Given the description of an element on the screen output the (x, y) to click on. 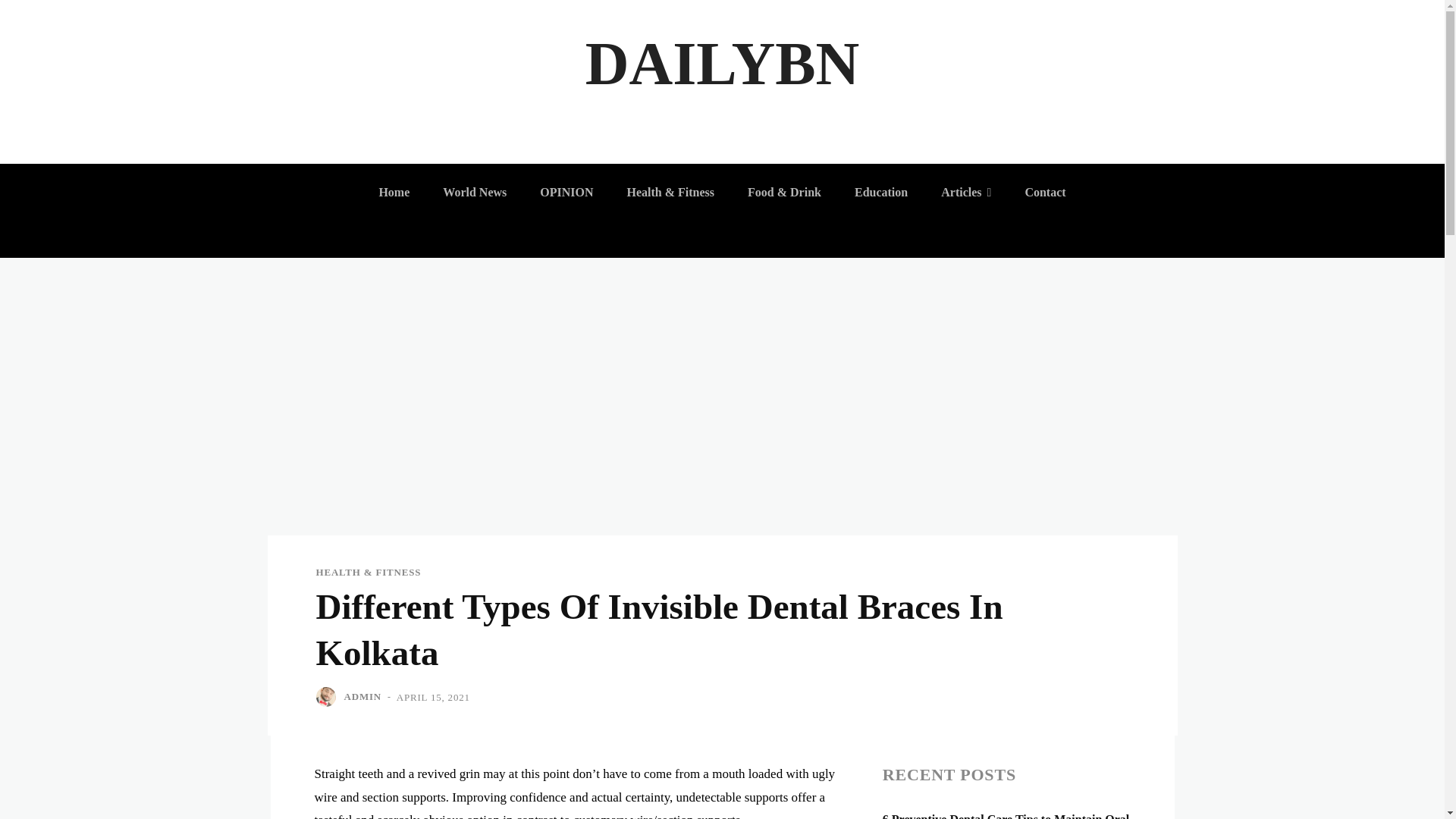
Articles (965, 192)
6 Preventive Dental Care Tips to Maintain Oral Hygiene (1005, 816)
6 Preventive Dental Care Tips to Maintain Oral Hygiene (1005, 816)
Admin (327, 696)
Home (394, 192)
OPINION (566, 192)
World News (474, 192)
ADMIN (362, 696)
DAILYBN (722, 63)
Education (881, 192)
